Given the description of an element on the screen output the (x, y) to click on. 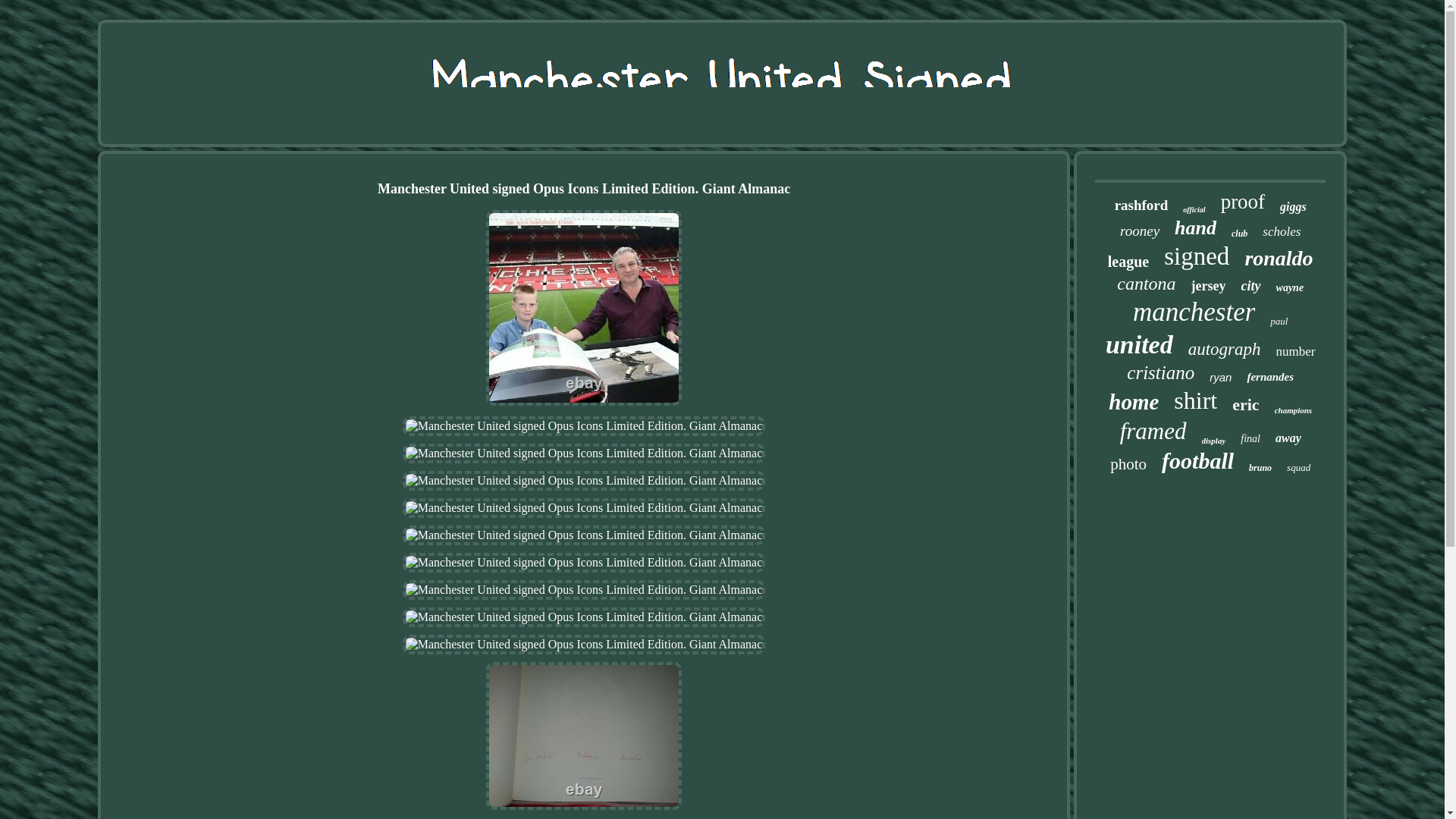
hand (1194, 228)
fernandes (1270, 377)
rashford (1142, 205)
city (1250, 286)
home (1133, 401)
rooney (1138, 230)
united (1139, 344)
signed (1195, 256)
eric (1245, 404)
